Given the description of an element on the screen output the (x, y) to click on. 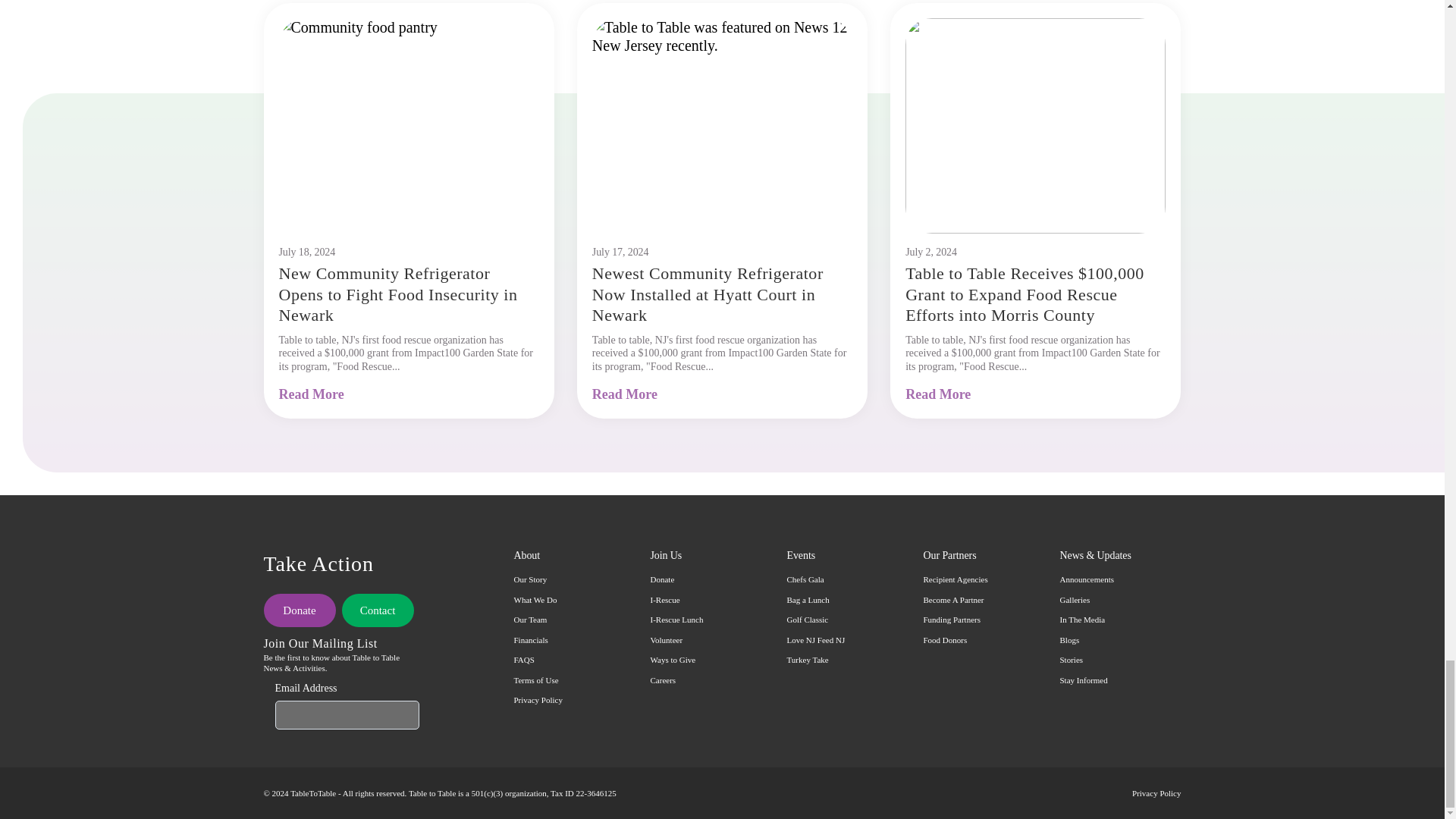
Submit (416, 715)
